Given the description of an element on the screen output the (x, y) to click on. 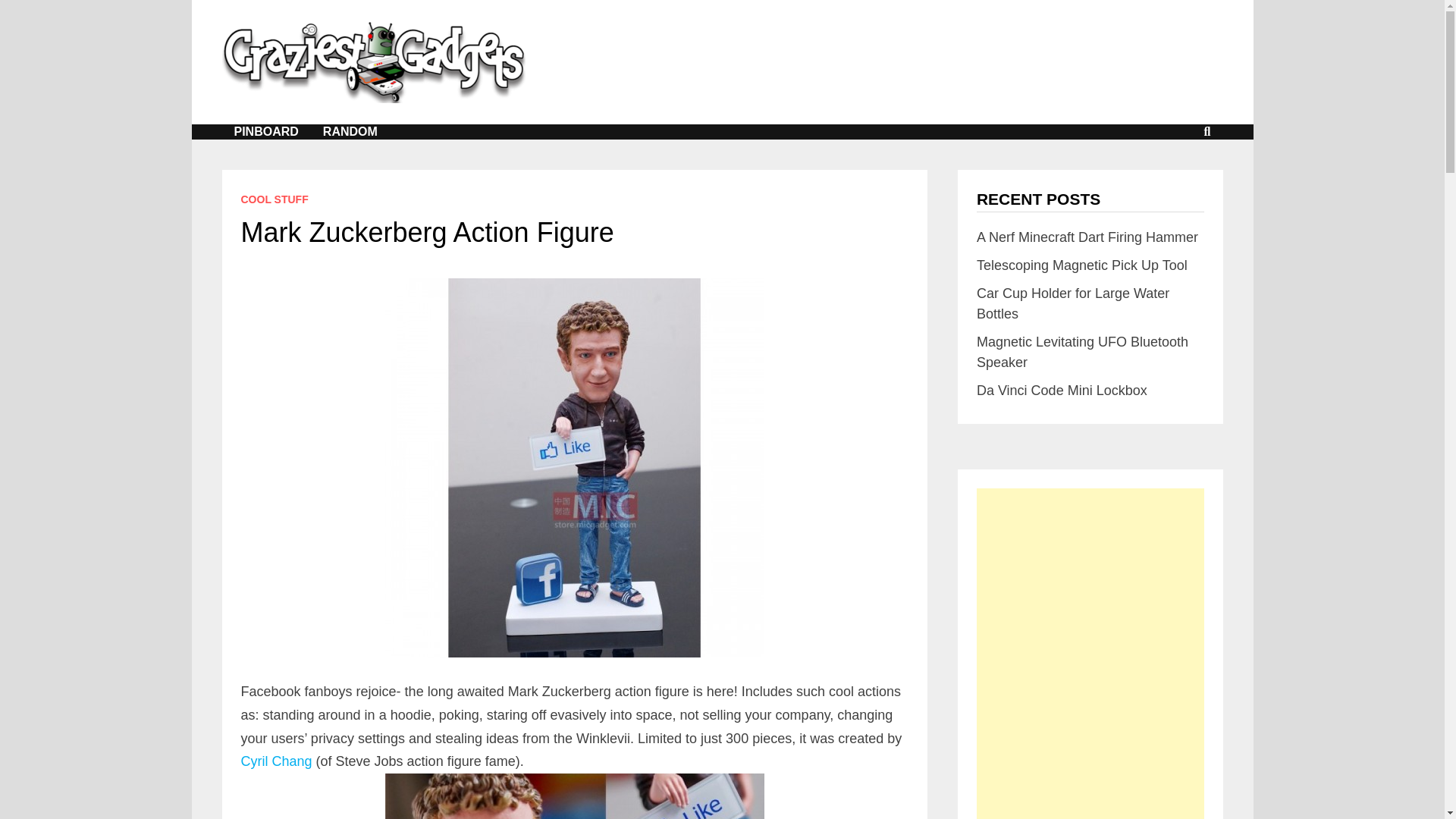
PINBOARD (265, 131)
zuckerberg-action-figure (574, 796)
COOL STUFF (274, 199)
Cyril Chang (277, 761)
RANDOM (350, 131)
